Given the description of an element on the screen output the (x, y) to click on. 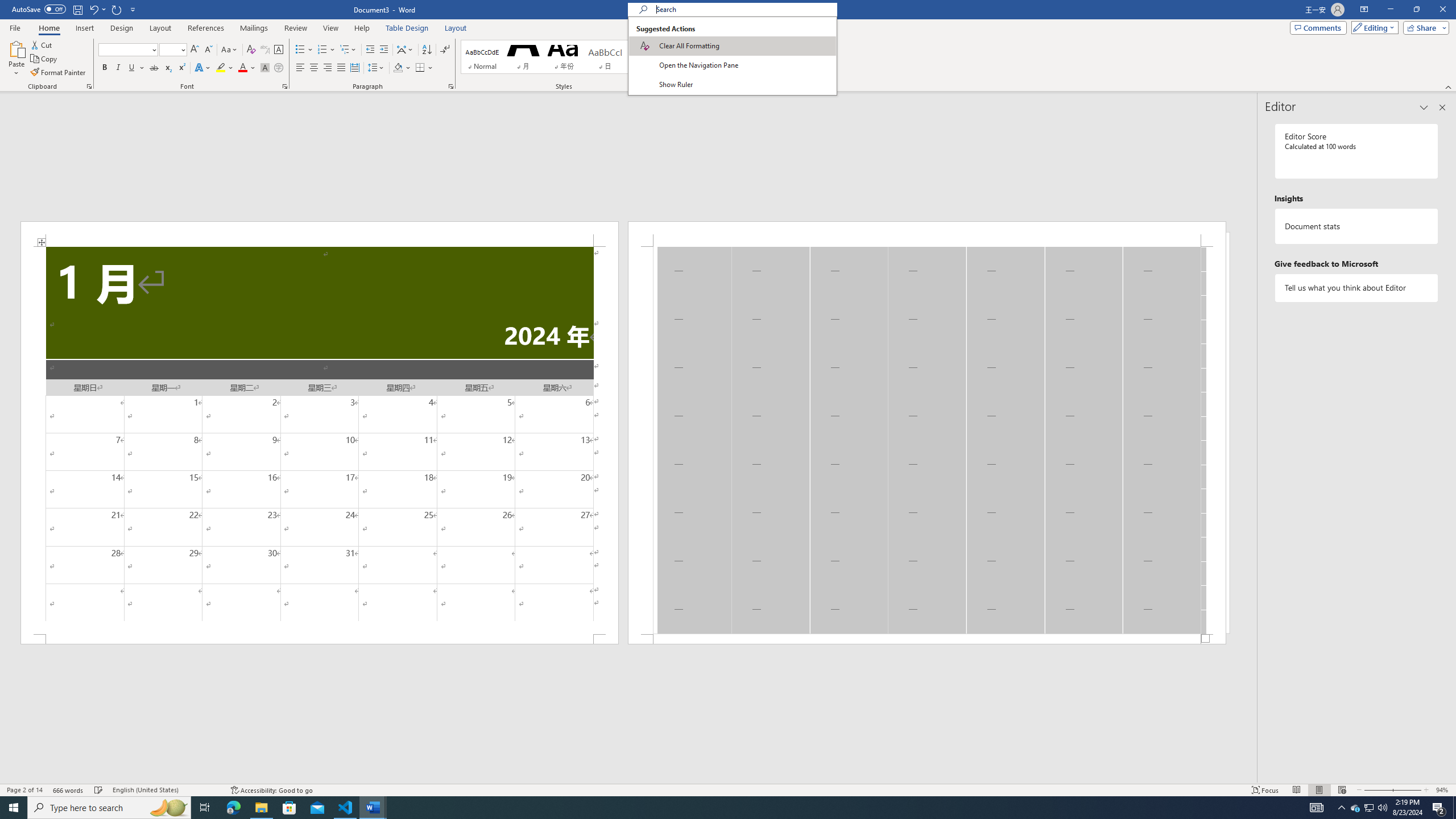
Select (705, 69)
Enclose Characters... (278, 67)
Styles... (676, 85)
Font (124, 49)
Text Highlight Color (224, 67)
Align Left (300, 67)
Mode (1372, 27)
Line and Paragraph Spacing (376, 67)
Paragraph... (450, 85)
Font Color (246, 67)
Cut (42, 44)
